Given the description of an element on the screen output the (x, y) to click on. 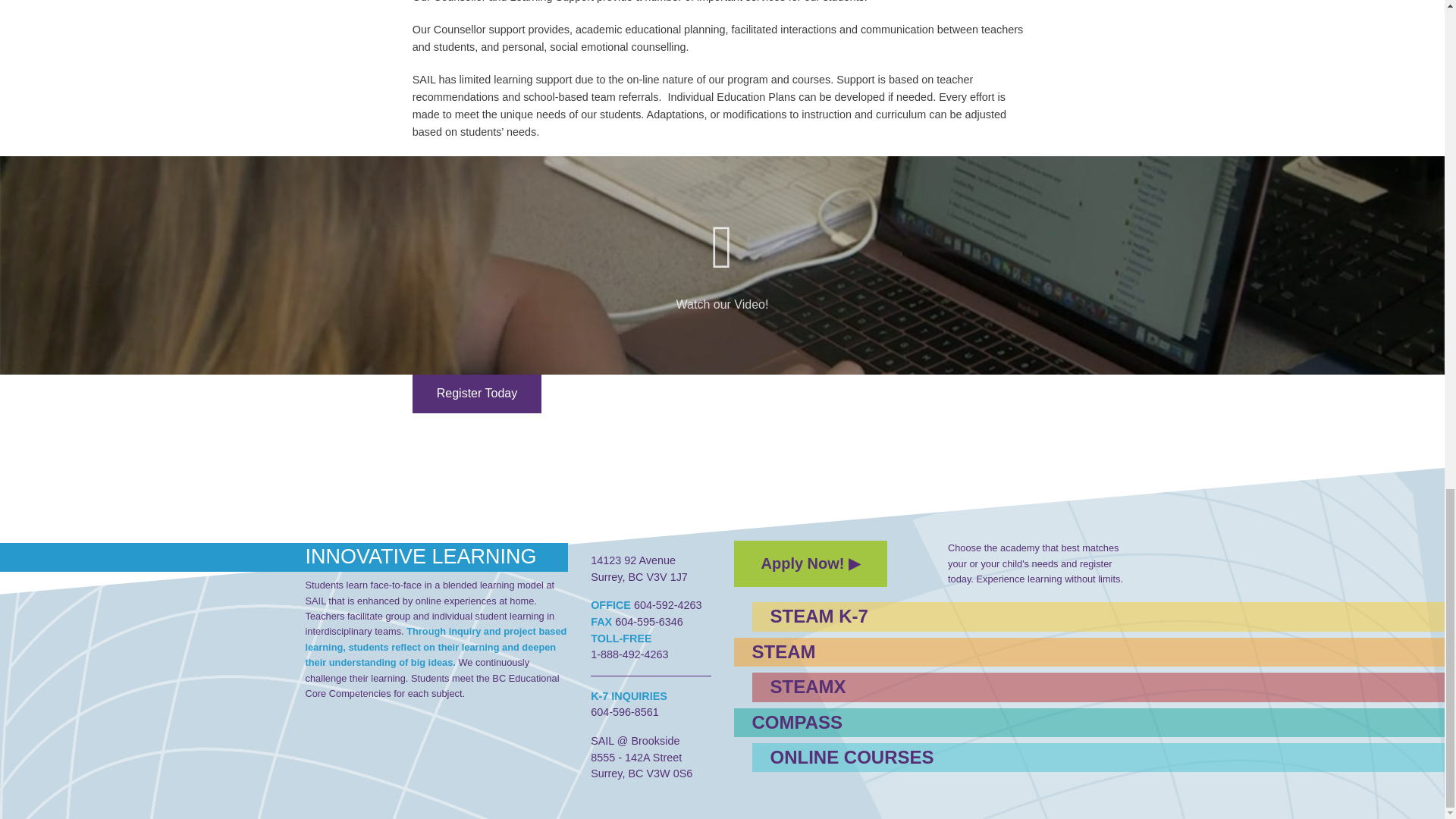
COMPASS (936, 722)
STEAM K-7 (946, 615)
STEAMX (946, 686)
ONLINE COURSES (946, 757)
STEAM (936, 652)
604-596-8561 (625, 711)
604-592-4263 (665, 604)
Register Today (476, 393)
